Given the description of an element on the screen output the (x, y) to click on. 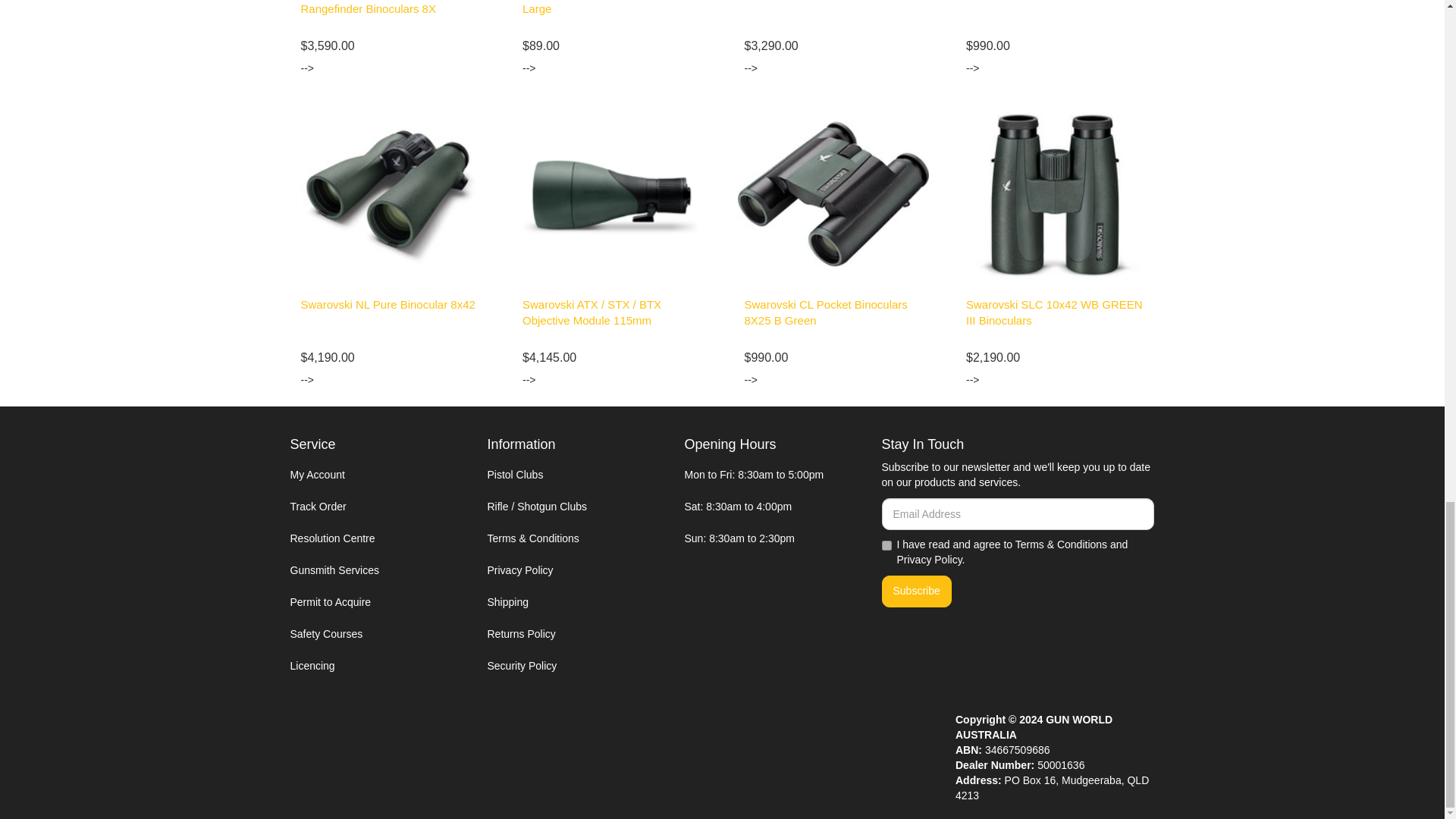
Subscribe (915, 591)
y (885, 545)
